Given the description of an element on the screen output the (x, y) to click on. 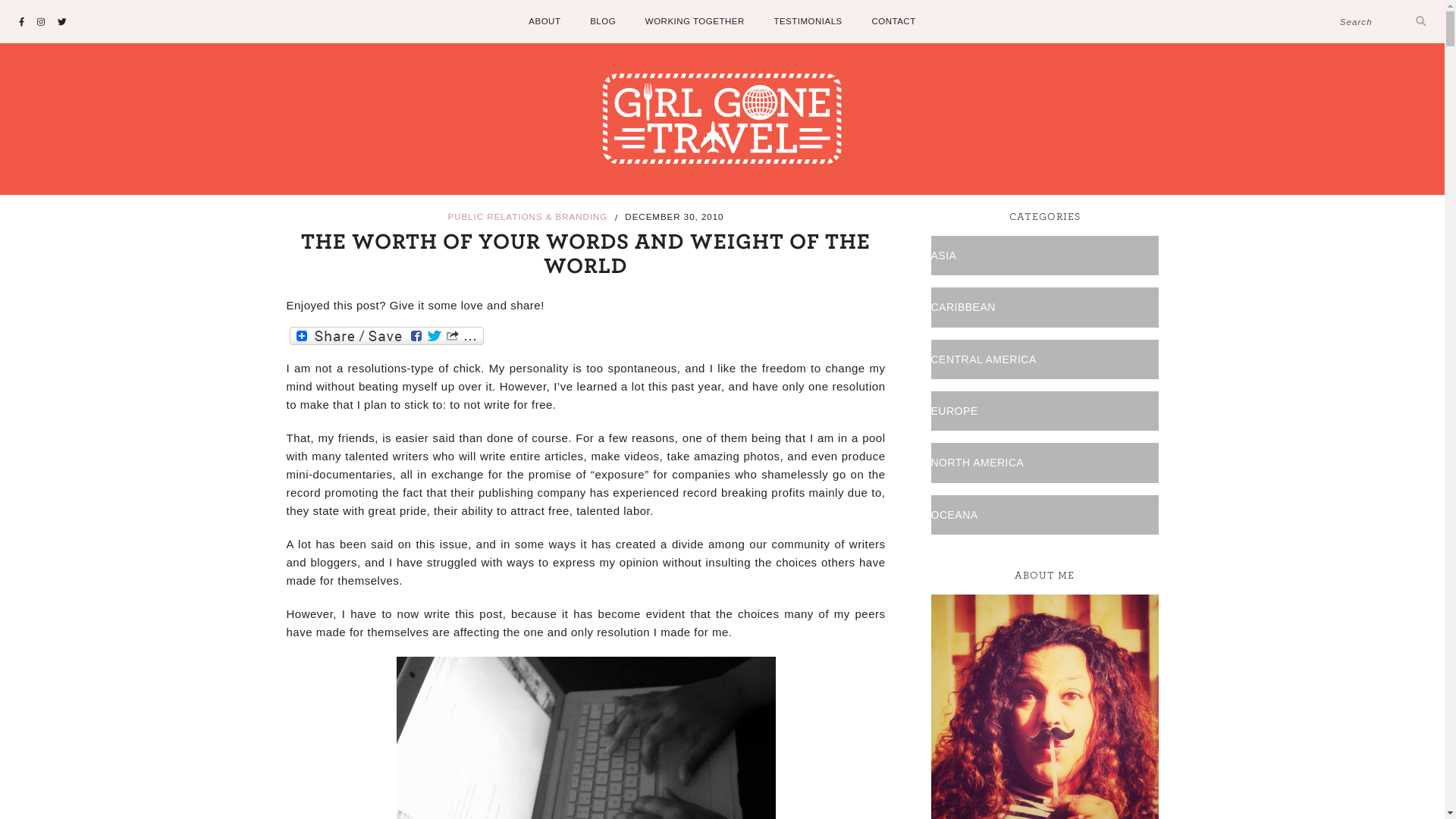
Back Camera (585, 737)
TESTIMONIALS (807, 20)
WORKING TOGETHER (694, 20)
CONTACT (892, 20)
DECEMBER 30, 2010 (673, 215)
ABOUT (544, 20)
BLOG (602, 20)
